Given the description of an element on the screen output the (x, y) to click on. 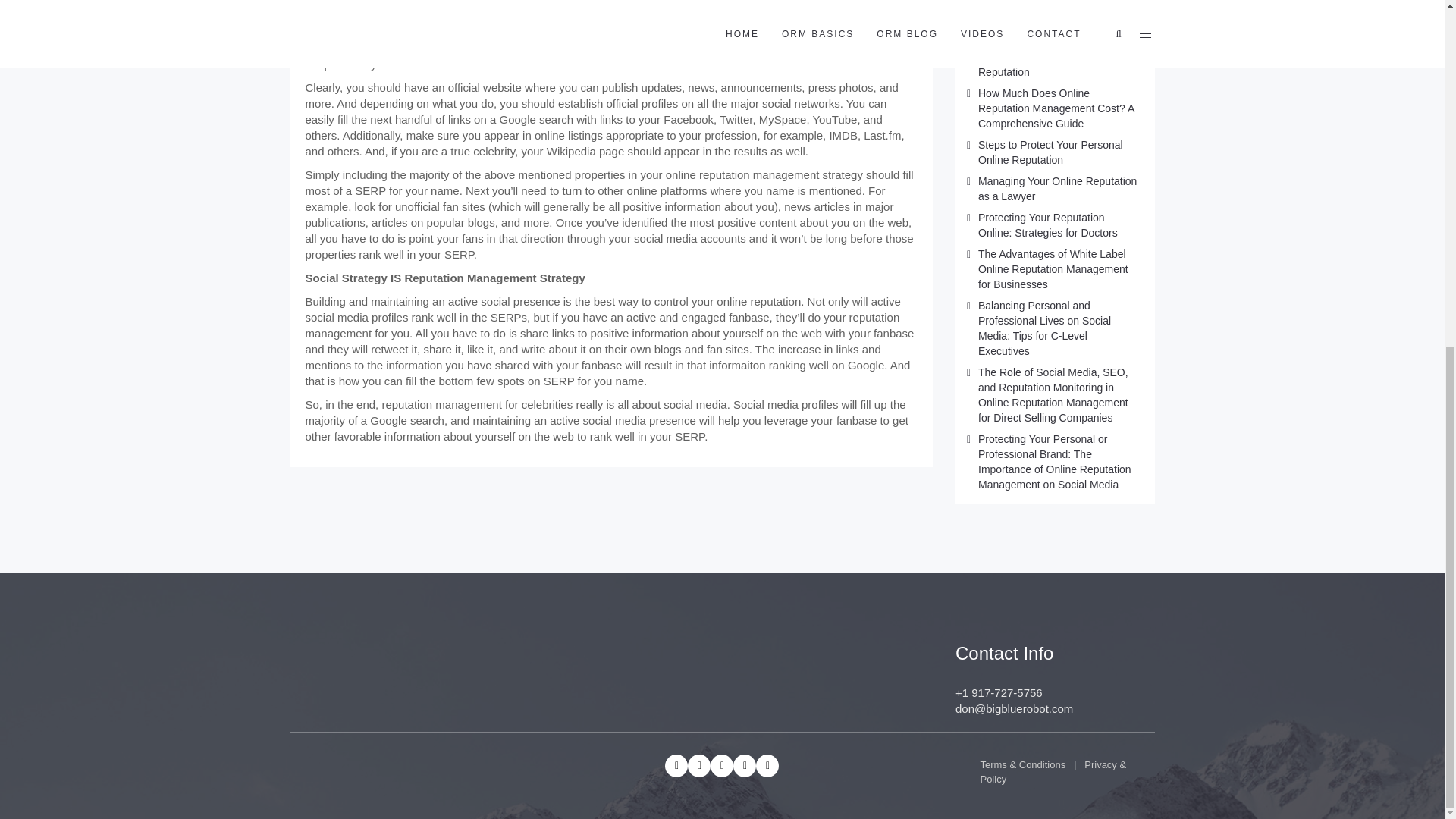
Managing Your Online Reputation as a Lawyer (1057, 188)
Steps to Protect Your Personal Online Reputation (1050, 152)
What is Online Reputation Management? (1040, 13)
Protecting Your Reputation Online: Strategies for Doctors (1048, 225)
